Given the description of an element on the screen output the (x, y) to click on. 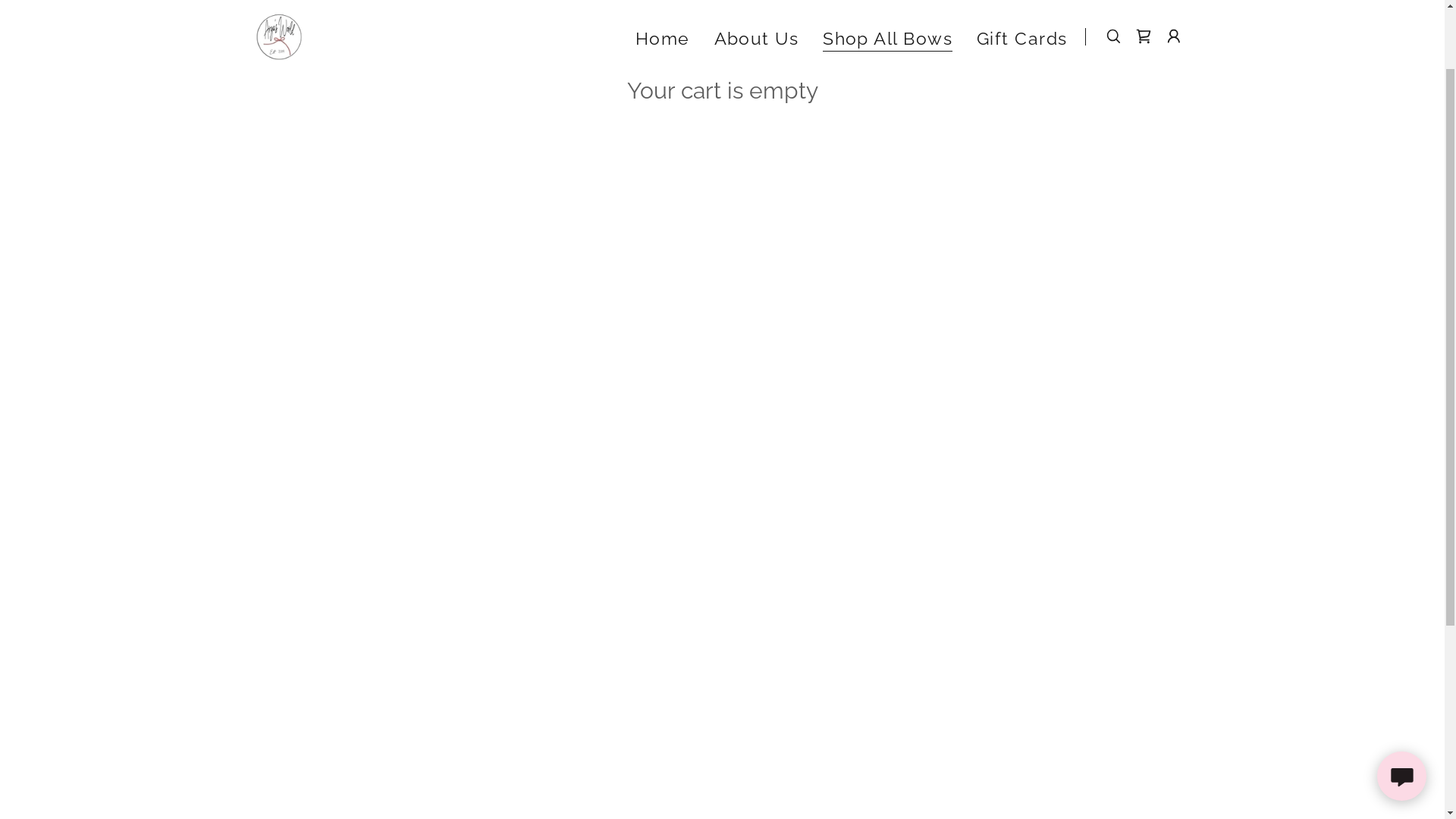
Shop All Bows Element type: text (887, 124)
Gift Cards Element type: text (1022, 122)
Arya's World Element type: hover (277, 119)
About Us Element type: text (756, 122)
Home Element type: text (662, 122)
Continue shopping Element type: text (341, 126)
